Given the description of an element on the screen output the (x, y) to click on. 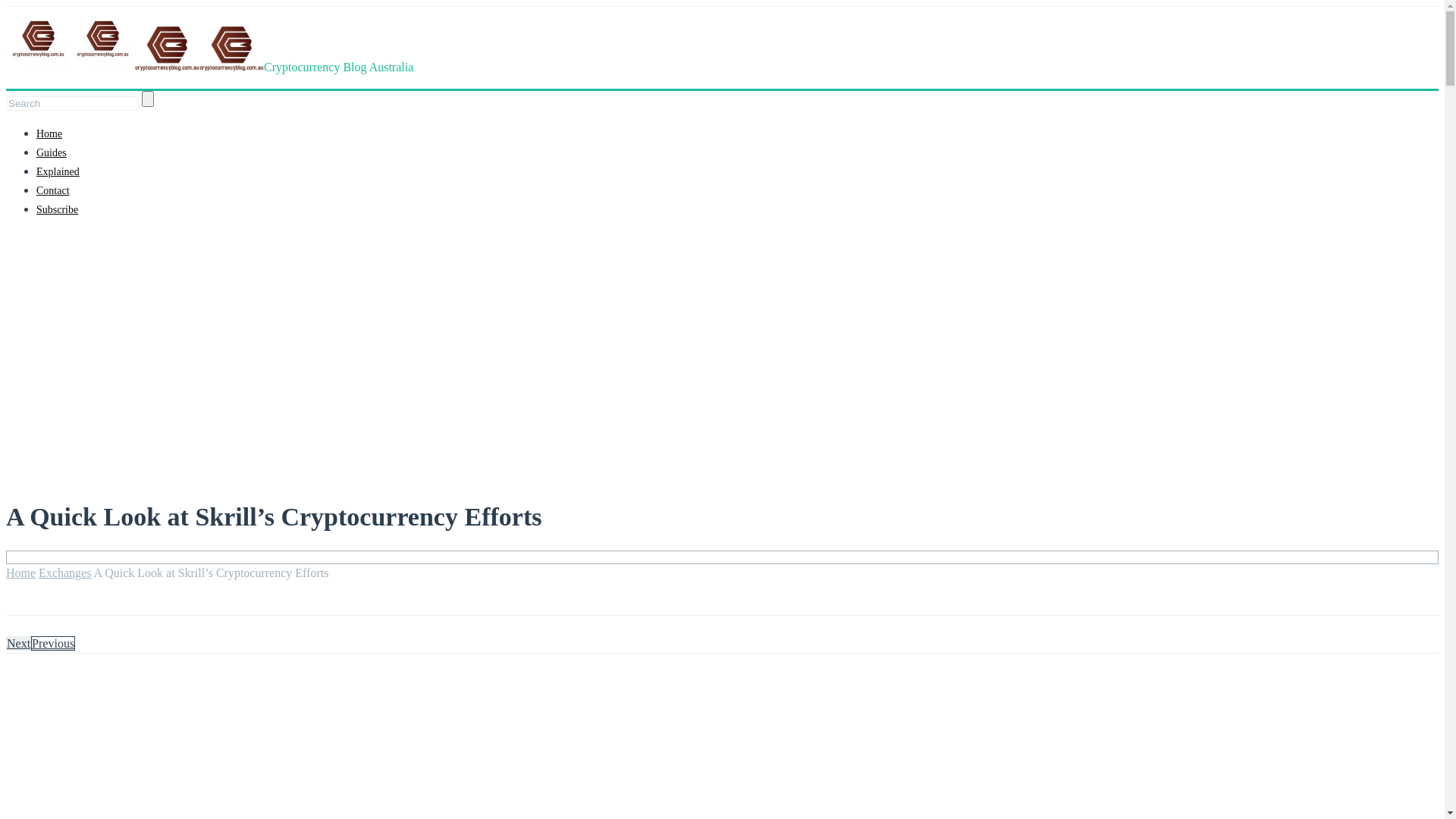
Subscribe Element type: text (57, 209)
Cryptocurrency Blog Australia Element type: hover (38, 38)
Home Element type: text (49, 133)
Cryptocurrency Blog Australia Element type: text (209, 66)
Cryptocurrency Blog Australia Element type: hover (102, 38)
Cryptocurrency Blog Australia Element type: hover (166, 48)
Previous Element type: text (53, 643)
Cryptocurrency Blog Australia Element type: hover (231, 48)
Home Element type: text (20, 572)
Guides Element type: text (51, 152)
Explained Element type: text (57, 171)
Exchanges Element type: text (64, 572)
Advertisement Element type: hover (721, 337)
Next Element type: text (18, 643)
Contact Element type: text (52, 190)
